Given the description of an element on the screen output the (x, y) to click on. 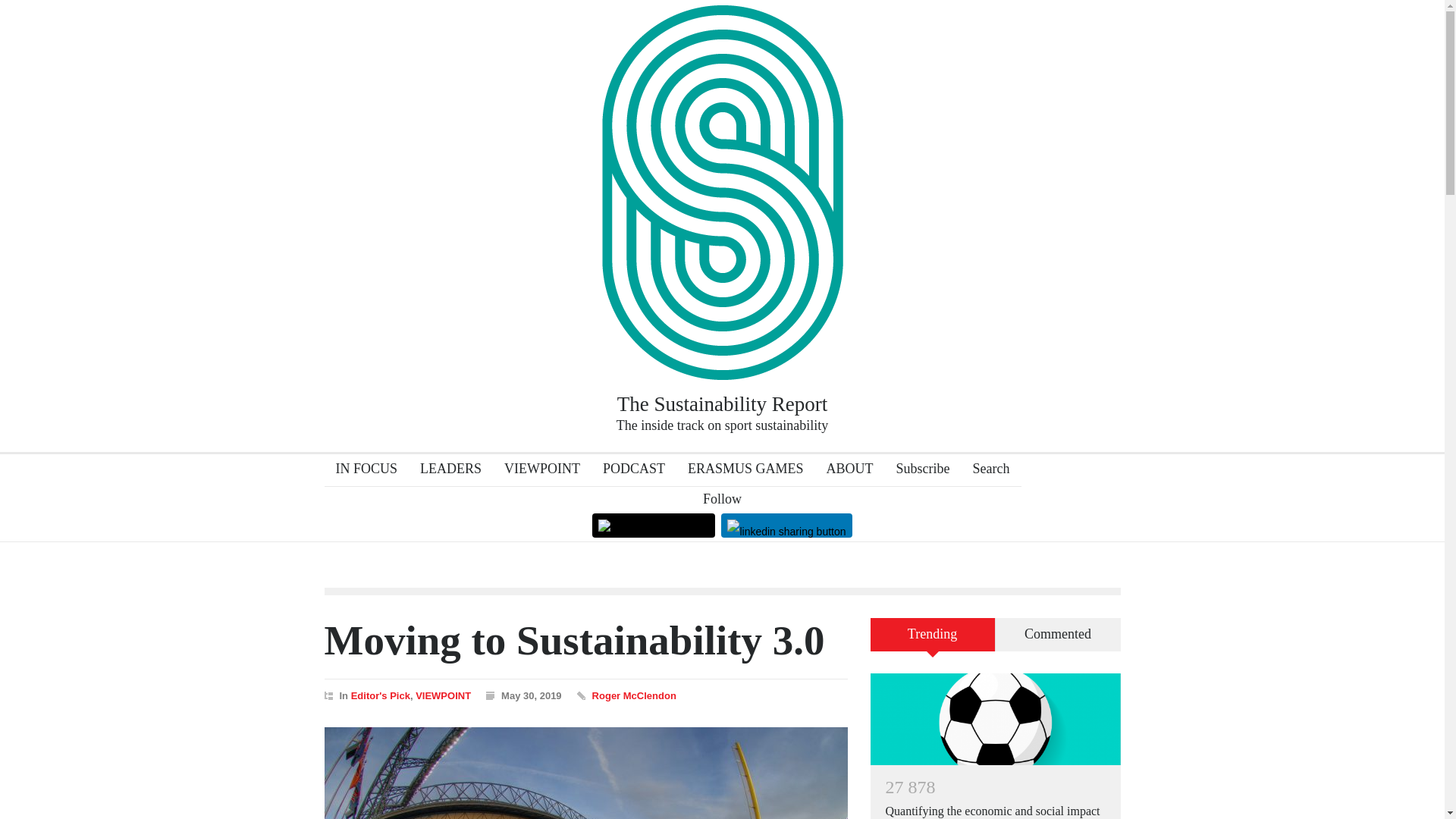
View all posts filed under Editor's Pick (380, 695)
Search (985, 470)
Quantifying the economic and social impact of football (992, 811)
The Sustainability Report (722, 354)
Subscribe (917, 470)
LEADERS (445, 470)
ABOUT (844, 470)
IN FOCUS (360, 470)
VIEWPOINT (442, 695)
Moving to Sustainability 3.0 (585, 773)
